Given the description of an element on the screen output the (x, y) to click on. 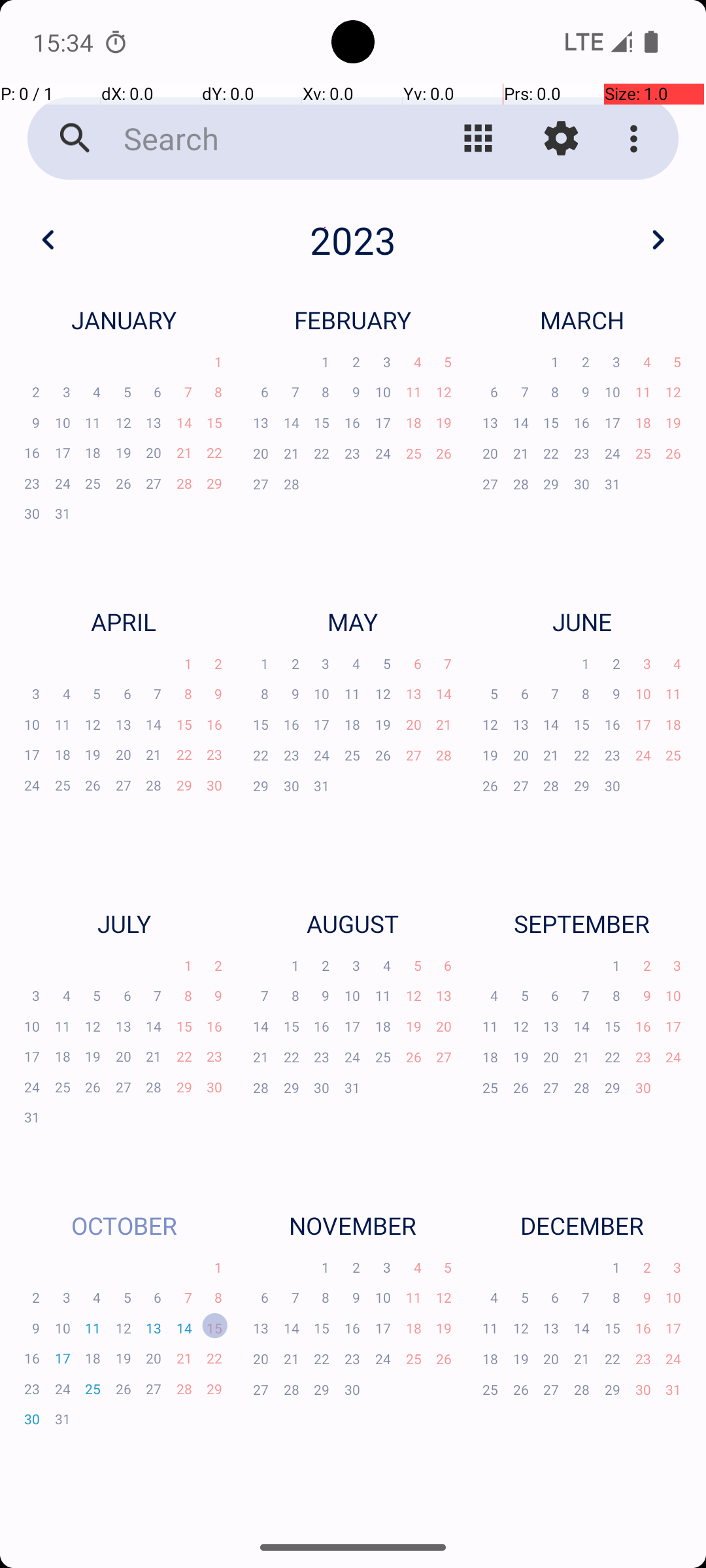
JANUARY Element type: android.widget.TextView (123, 319)
FEBRUARY Element type: android.widget.TextView (352, 319)
MARCH Element type: android.widget.TextView (582, 319)
APRIL Element type: android.widget.TextView (123, 621)
MAY Element type: android.widget.TextView (352, 621)
JUNE Element type: android.widget.TextView (582, 621)
JULY Element type: android.widget.TextView (123, 923)
AUGUST Element type: android.widget.TextView (352, 923)
SEPTEMBER Element type: android.widget.TextView (582, 923)
NOVEMBER Element type: android.widget.TextView (352, 1224)
DECEMBER Element type: android.widget.TextView (582, 1224)
